Given the description of an element on the screen output the (x, y) to click on. 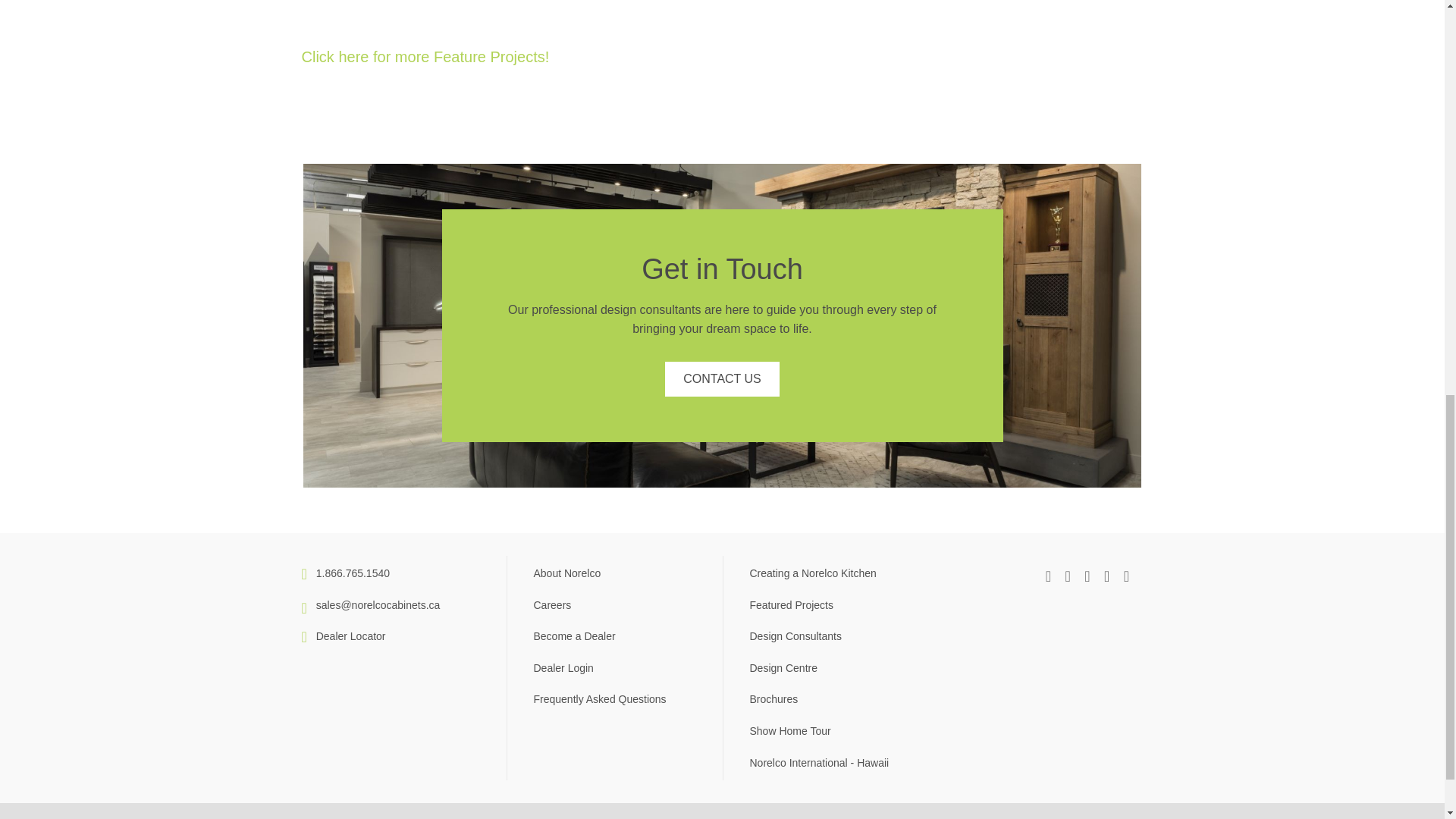
Click here for more Feature Projects! (425, 56)
